Given the description of an element on the screen output the (x, y) to click on. 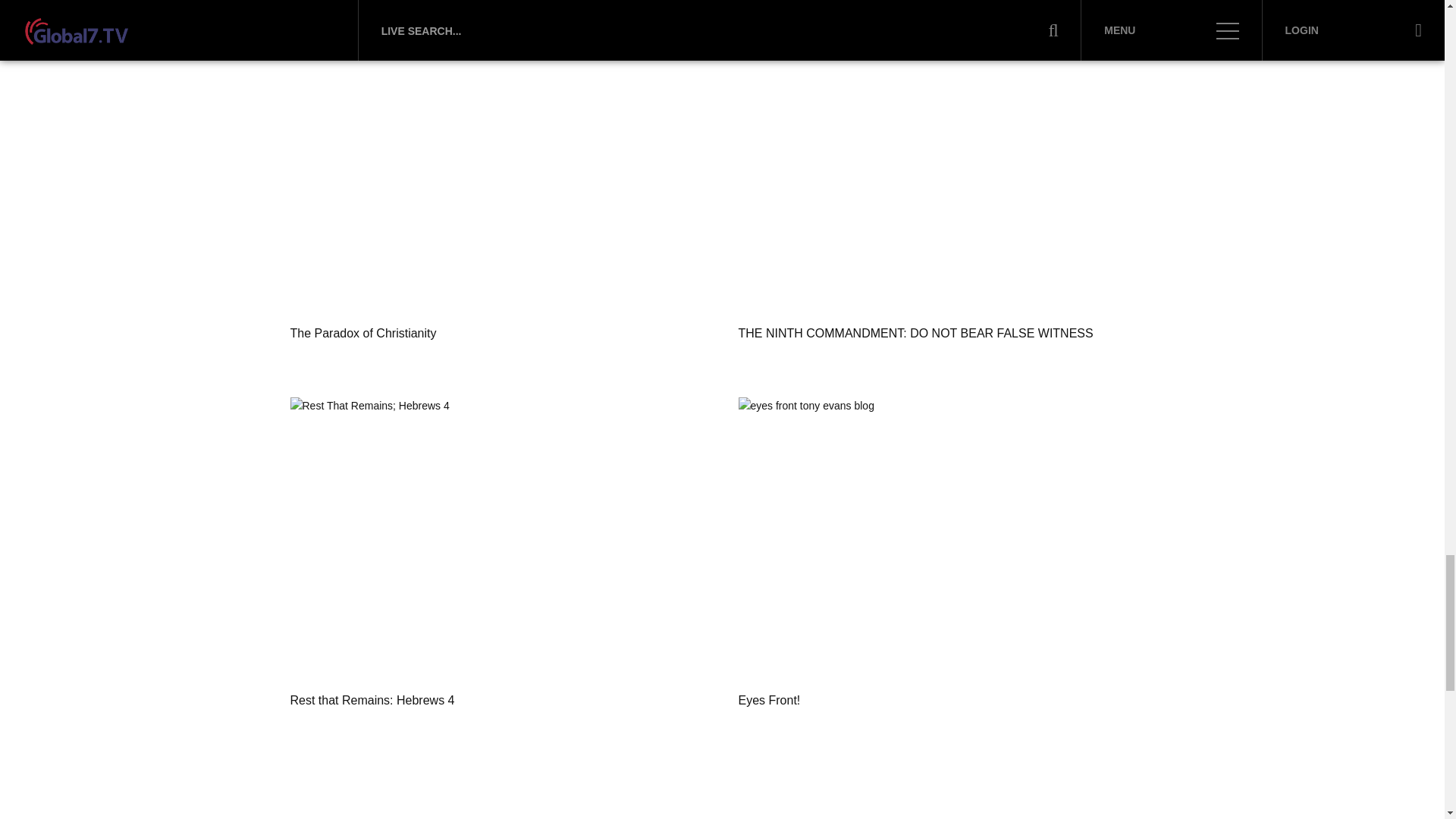
The Paradox of Christianity (497, 168)
THE NINTH COMMANDMENT: DO NOT BEAR FALSE WITNESS (946, 168)
Rest that Remains: Hebrews 4 (497, 535)
Eyes Front! (946, 535)
